Given the description of an element on the screen output the (x, y) to click on. 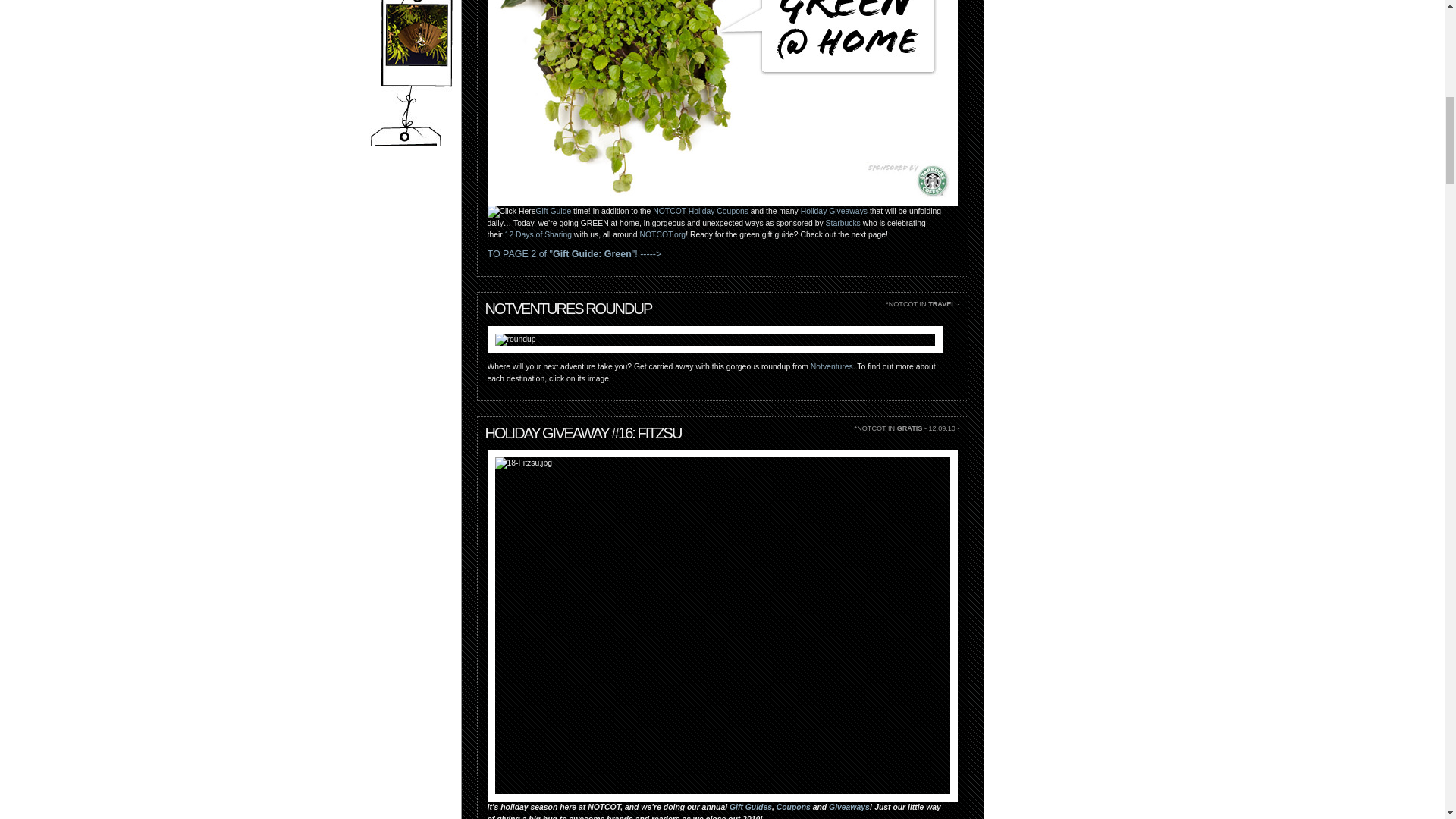
NOTCOT.org (662, 234)
Gift Guide (552, 211)
Starbucks (842, 223)
TRAVEL (941, 303)
Holiday Giveaways (833, 211)
NOTCOT Holiday Coupons (700, 211)
Notventures (831, 366)
GRATIS (909, 428)
12 Days of Sharing (538, 234)
NOTVENTURES ROUNDUP (568, 308)
